Given the description of an element on the screen output the (x, y) to click on. 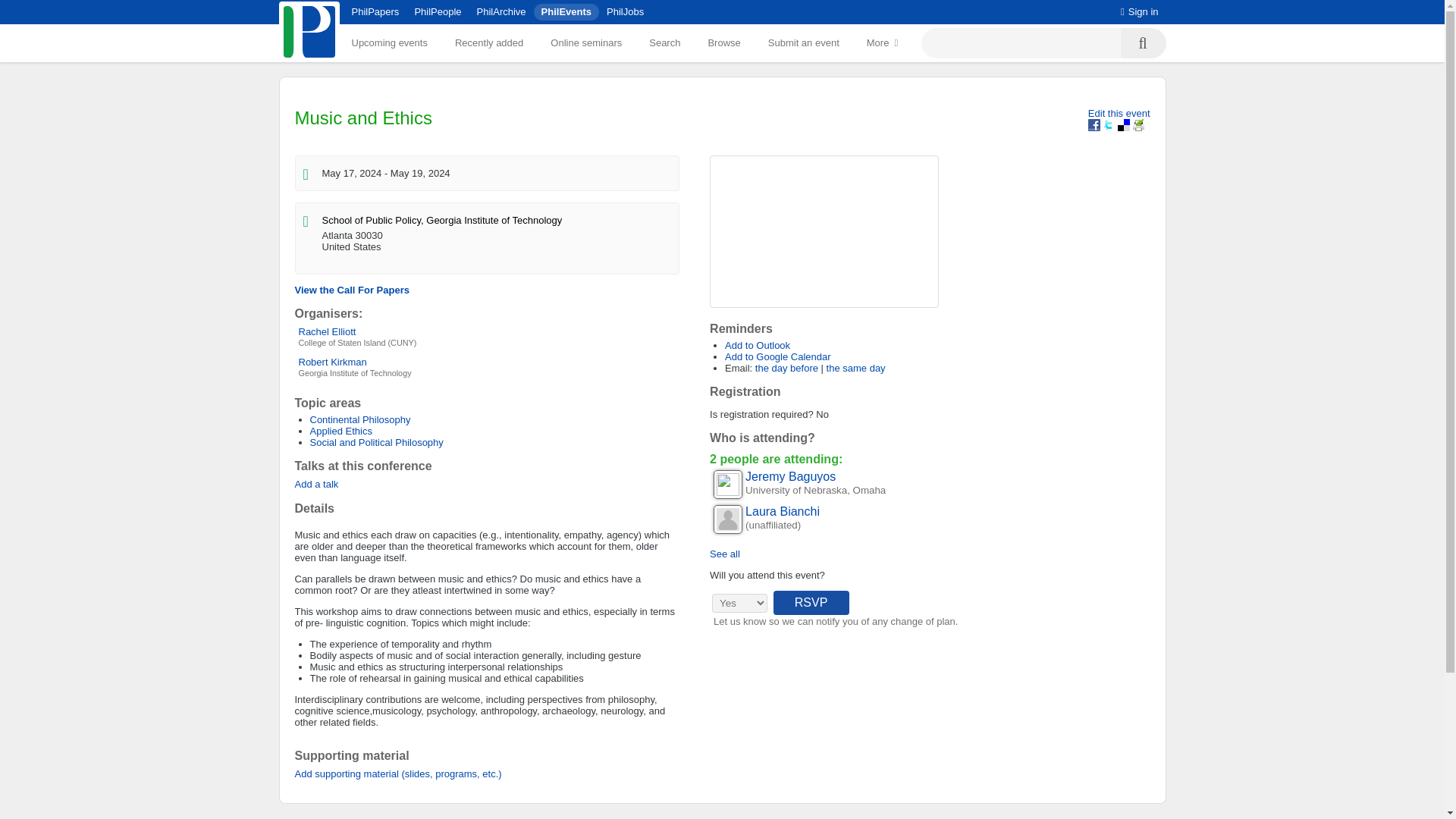
Print Friendly (1138, 124)
Submit an event (803, 42)
Recently added (488, 42)
Sign in (1139, 11)
Rachel Elliott (327, 331)
Edit this event (1118, 112)
Upcoming events (389, 42)
RSVP (810, 602)
View the Call For Papers (351, 289)
Facebook (1093, 124)
PhilJobs (625, 11)
Online seminars (585, 42)
PhilPapers (375, 11)
Robert Kirkman (332, 361)
Search (665, 42)
